Given the description of an element on the screen output the (x, y) to click on. 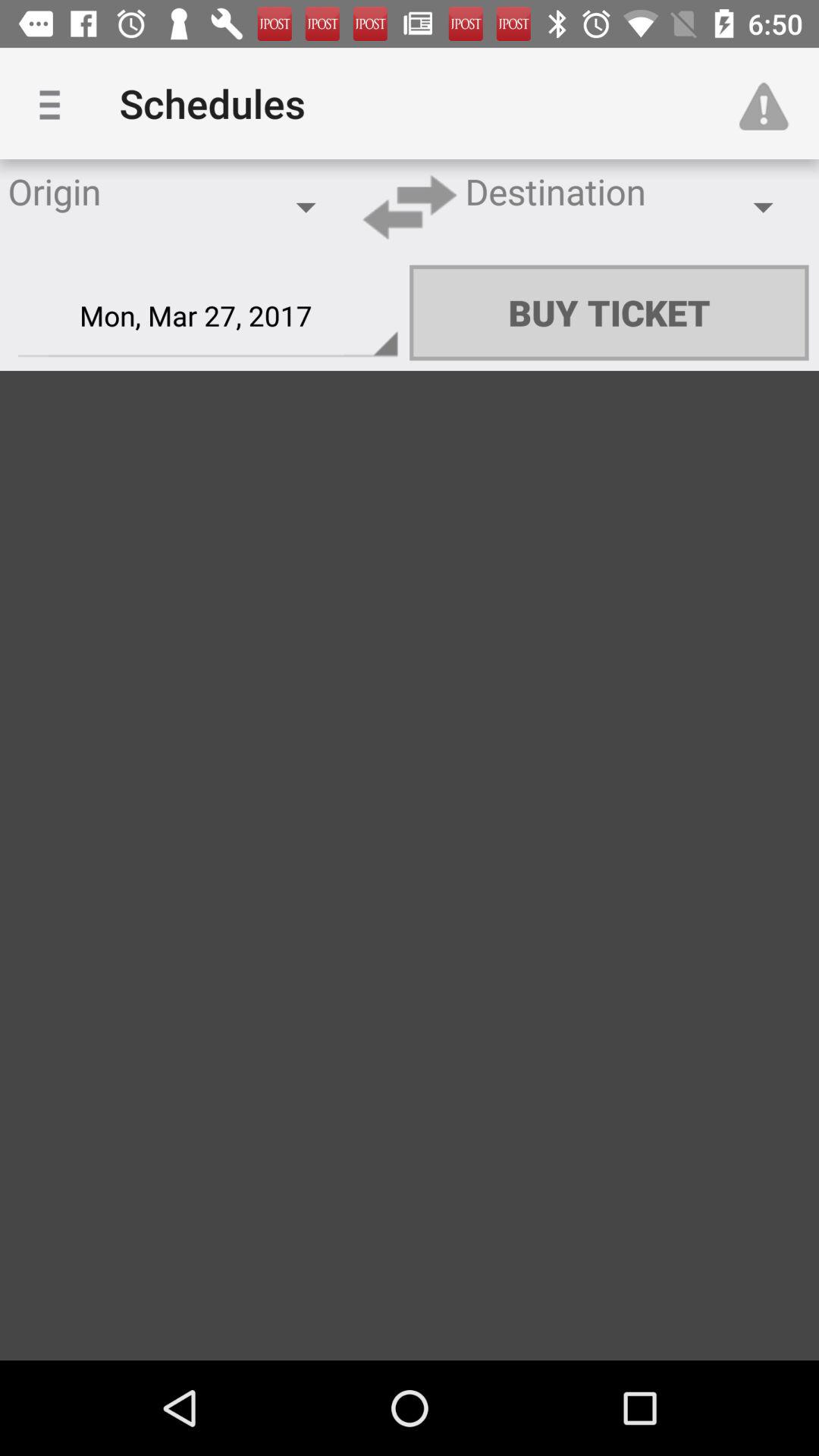
press the item to the left of the schedules (55, 103)
